Given the description of an element on the screen output the (x, y) to click on. 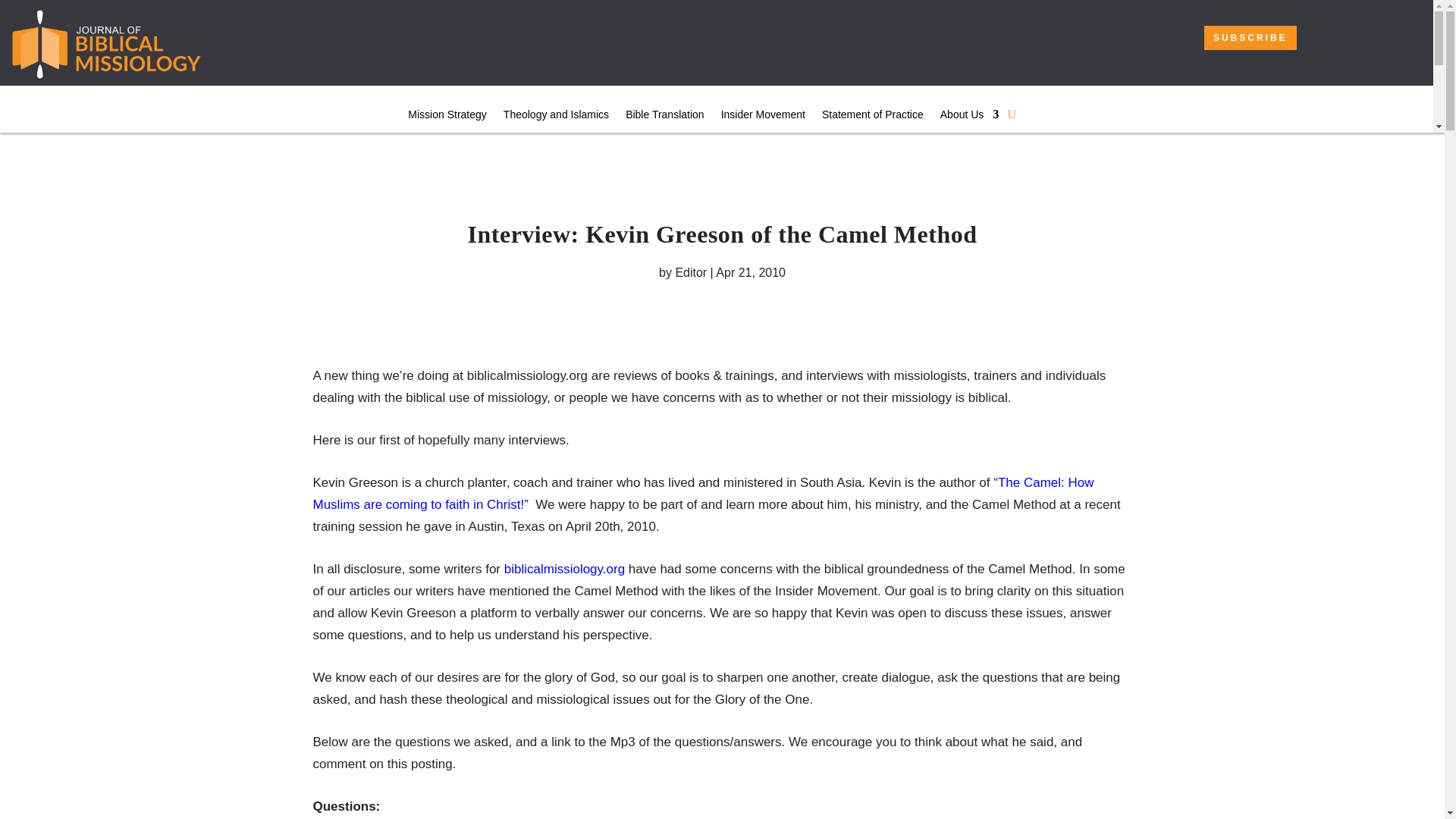
Mission Strategy (446, 117)
biblicalmissiology.org (563, 568)
Insider Movement (762, 117)
Statement of Practice (872, 117)
Posts by Editor (690, 272)
Editor (690, 272)
Bible Translation (665, 117)
About Us (969, 117)
The Camel: How Muslims are coming to faith in Christ! (703, 493)
Theology and Islamics (555, 117)
SUBSCRIBE (1250, 37)
